Given the description of an element on the screen output the (x, y) to click on. 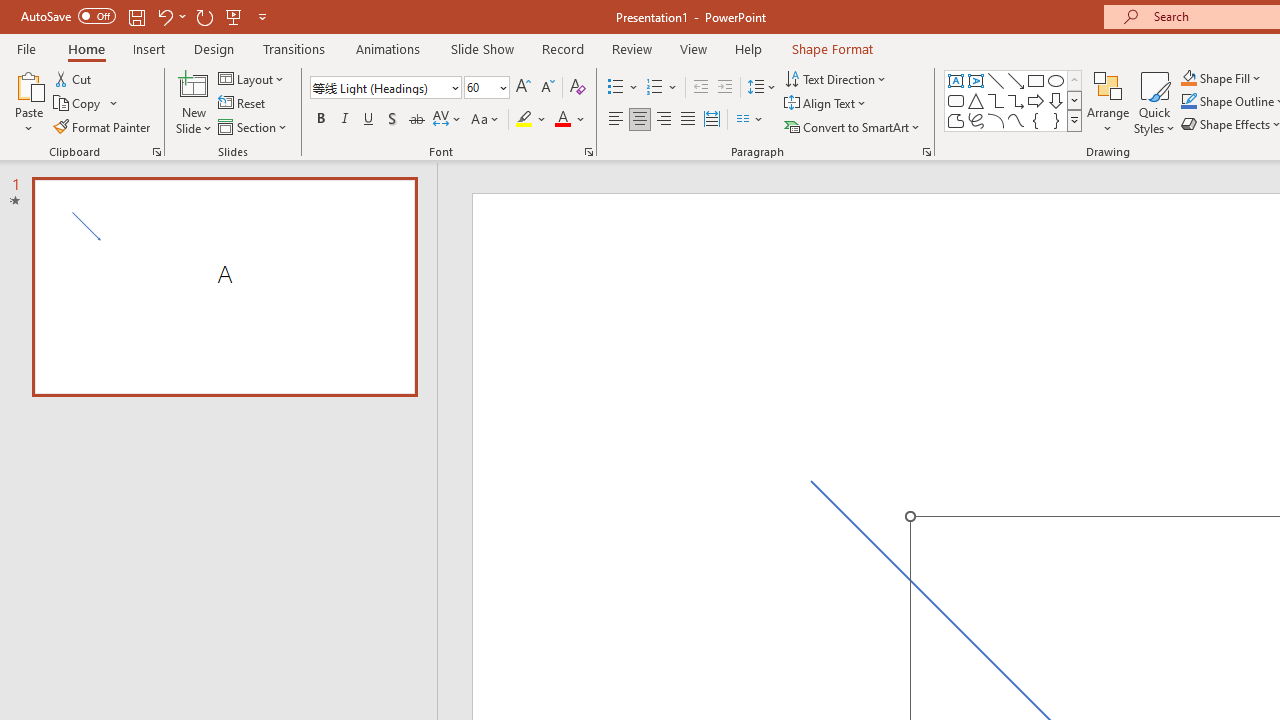
Slide A (224, 286)
